Given the description of an element on the screen output the (x, y) to click on. 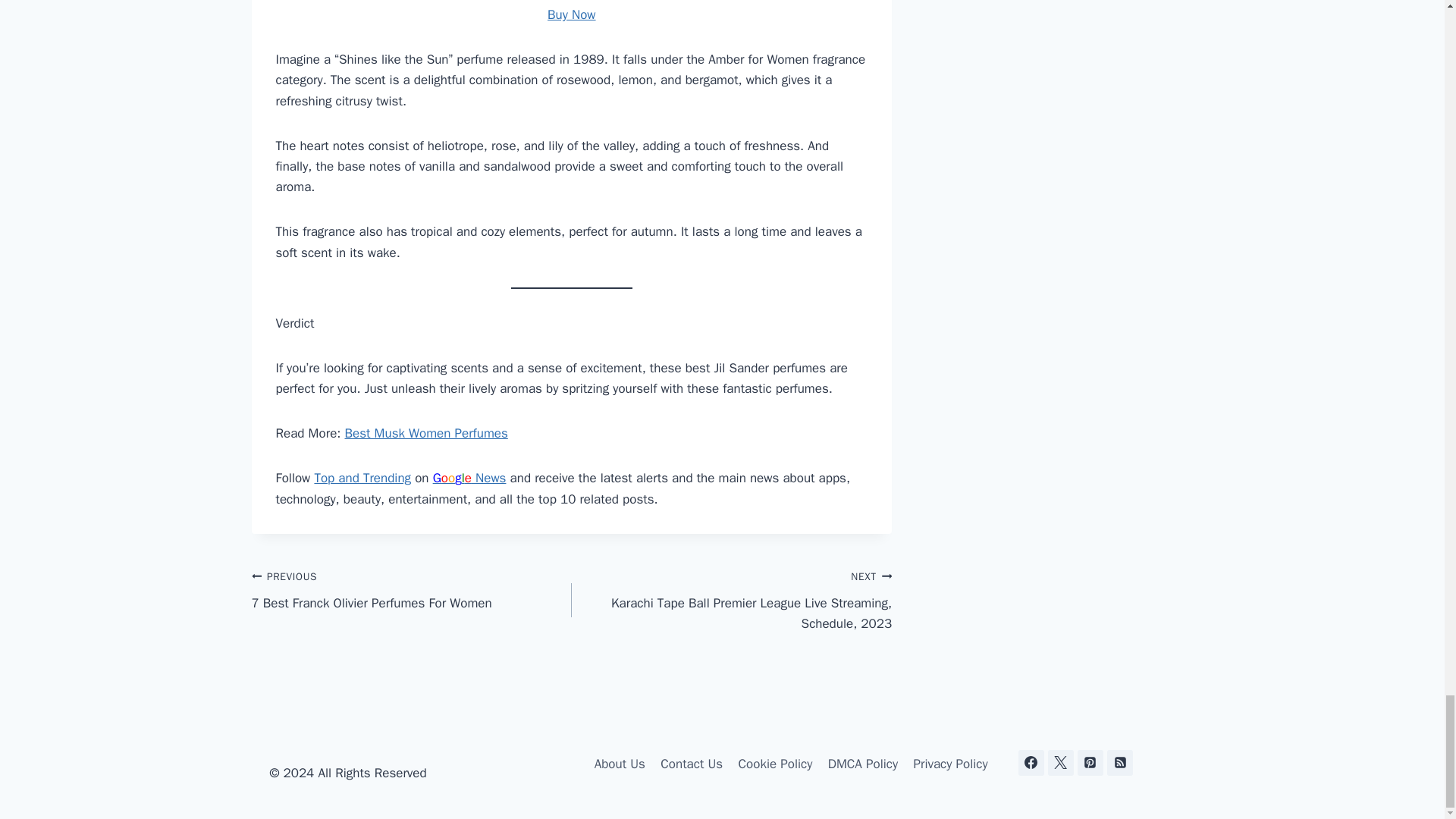
Best Musk Women Perfumes (424, 433)
Google News (469, 478)
Buy Now (571, 14)
Top and Trending (362, 478)
